Given the description of an element on the screen output the (x, y) to click on. 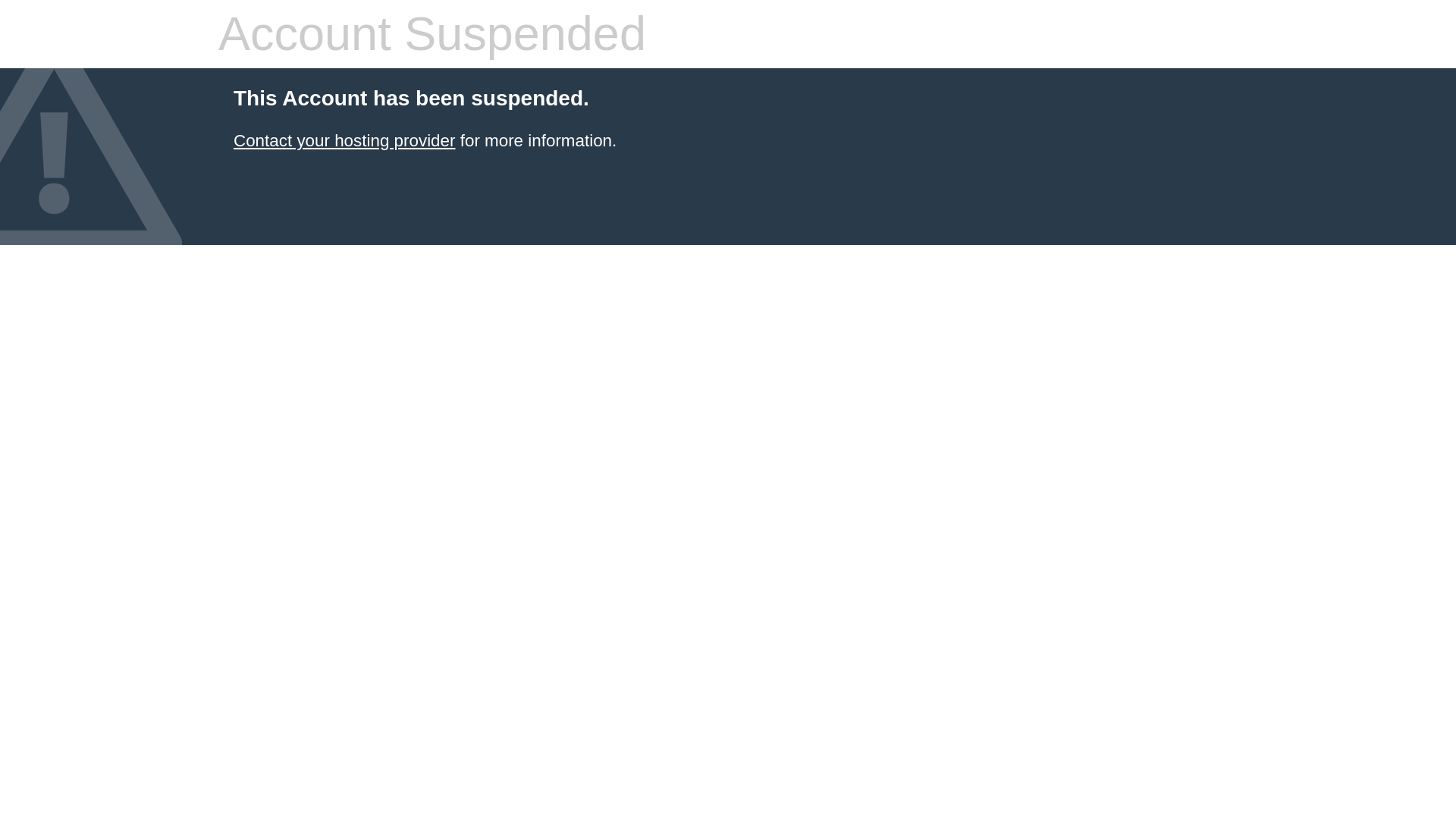
Contact your hosting provider (343, 140)
